Given the description of an element on the screen output the (x, y) to click on. 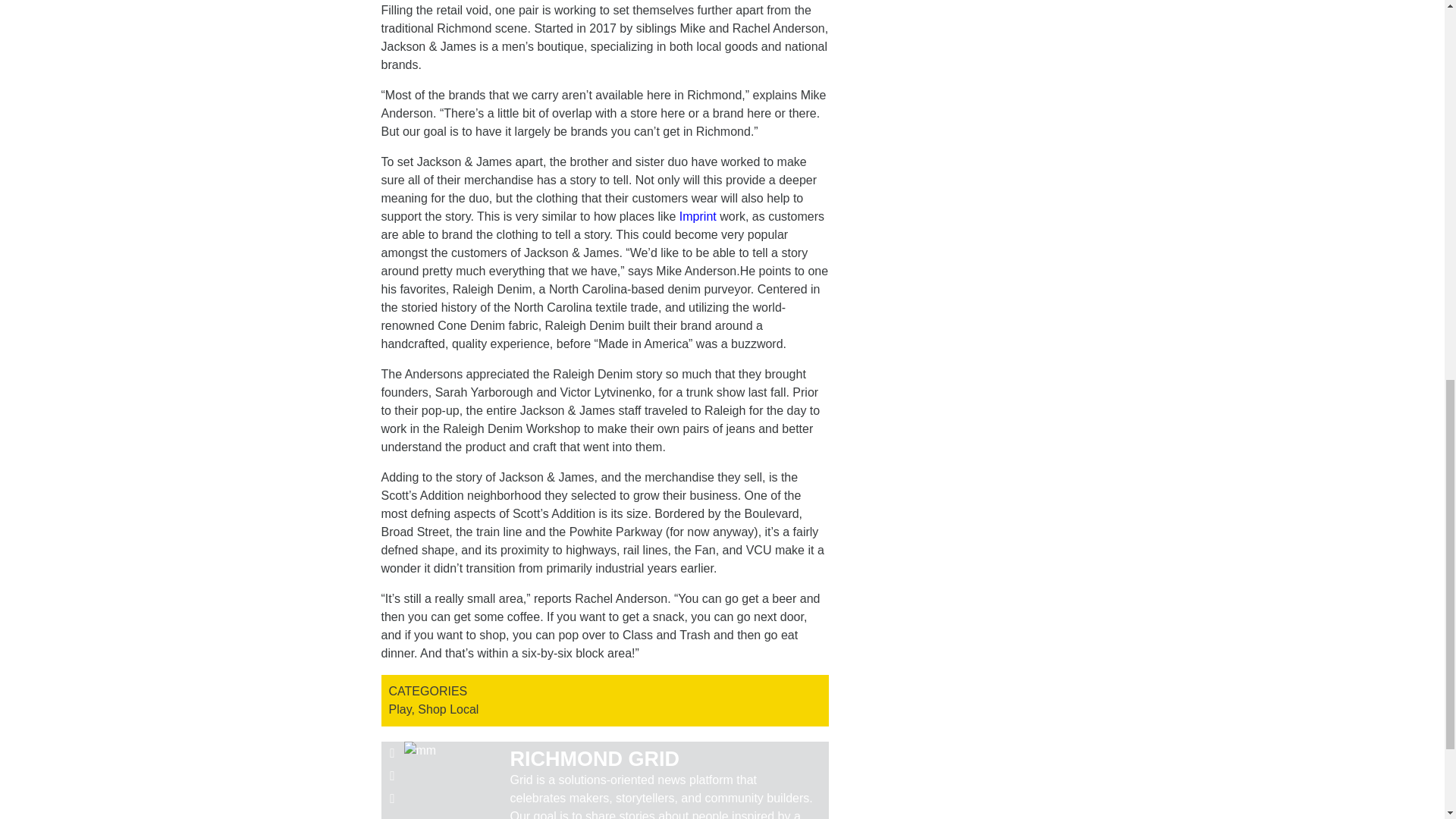
Instagram (391, 798)
Play (399, 708)
Imprint (697, 215)
Twitter (391, 775)
Shop Local (448, 708)
RICHMOND GRID (594, 758)
Facebook (391, 753)
